Given the description of an element on the screen output the (x, y) to click on. 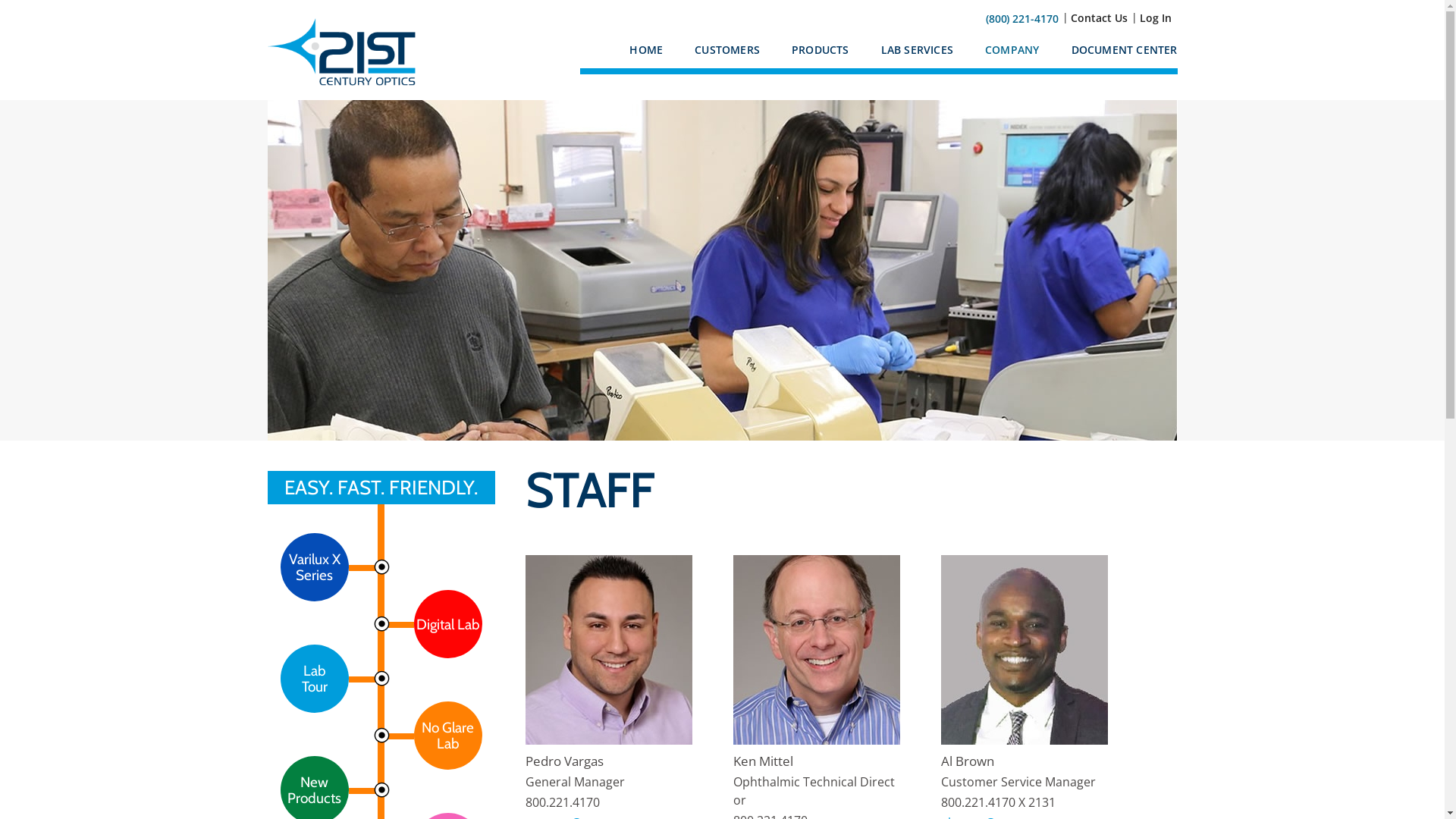
COMPANY Element type: text (1002, 55)
Contact Us Element type: text (1098, 17)
LAB SERVICES Element type: text (907, 55)
DOCUMENT CENTER Element type: text (1114, 55)
CUSTOMERS Element type: text (717, 55)
HOME Element type: text (636, 55)
Log In Element type: text (1154, 17)
PRODUCTS Element type: text (810, 55)
